Given the description of an element on the screen output the (x, y) to click on. 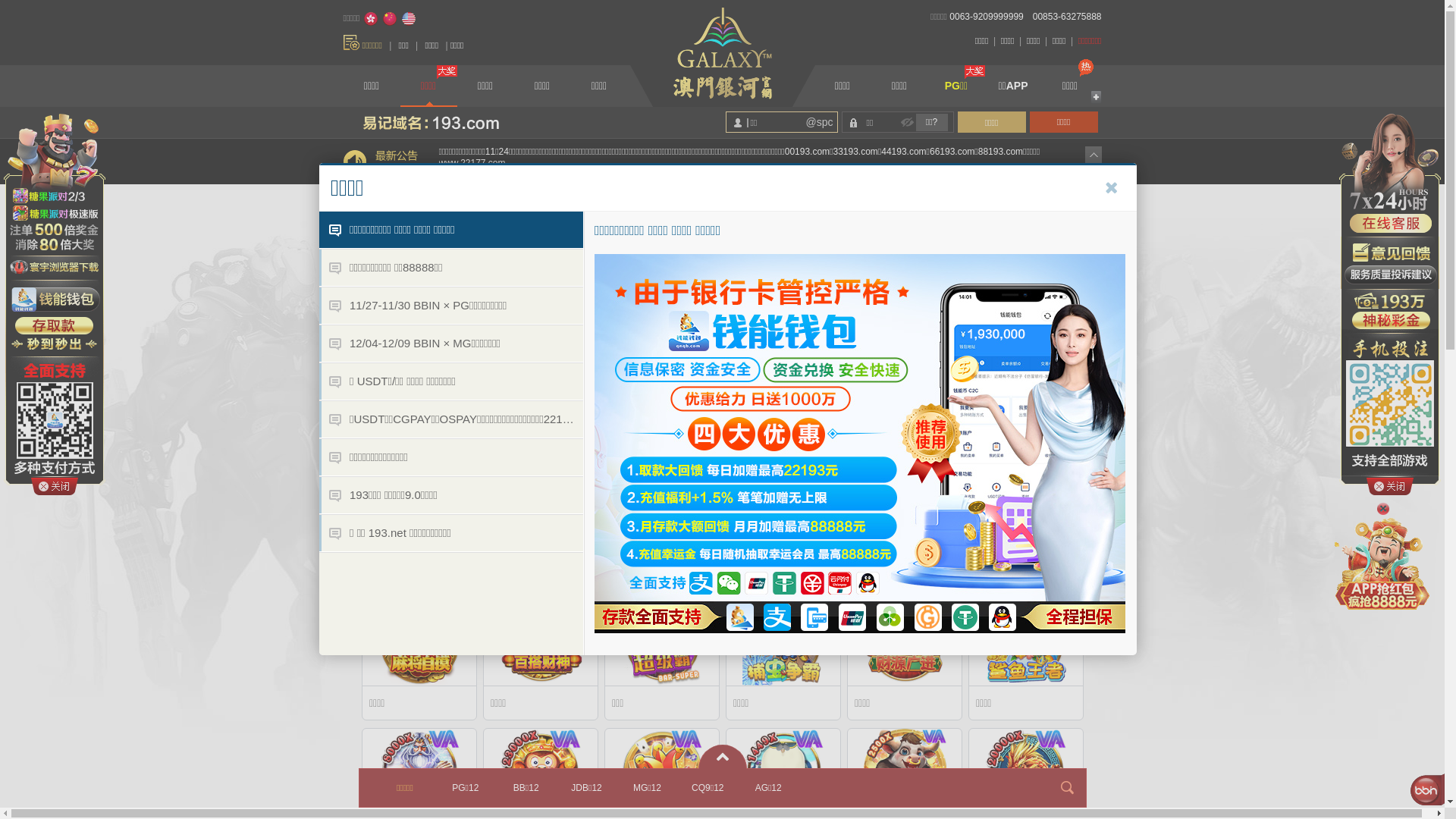
English Element type: hover (408, 18)
